Given the description of an element on the screen output the (x, y) to click on. 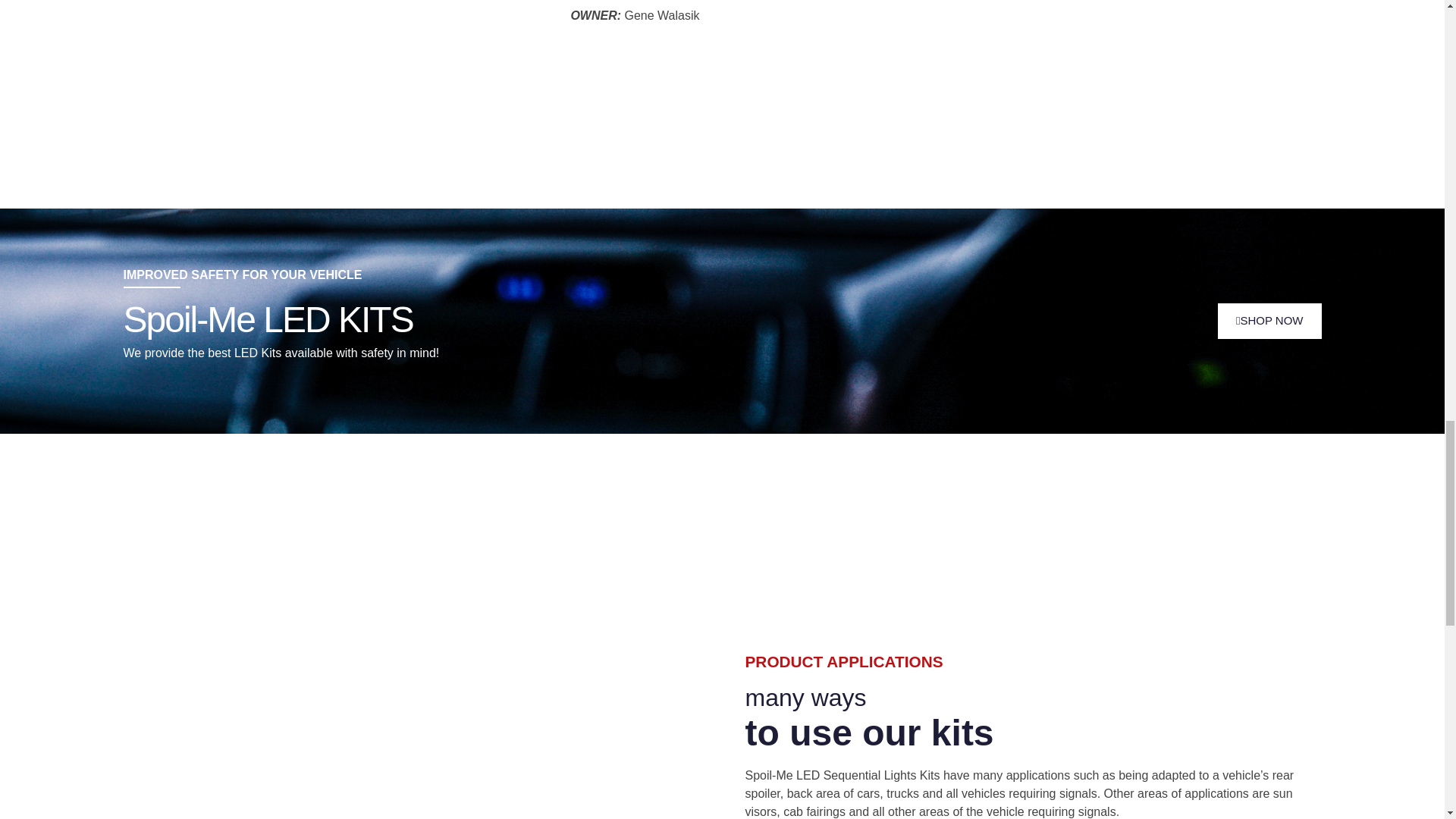
SHOP NOW (1269, 321)
